Given the description of an element on the screen output the (x, y) to click on. 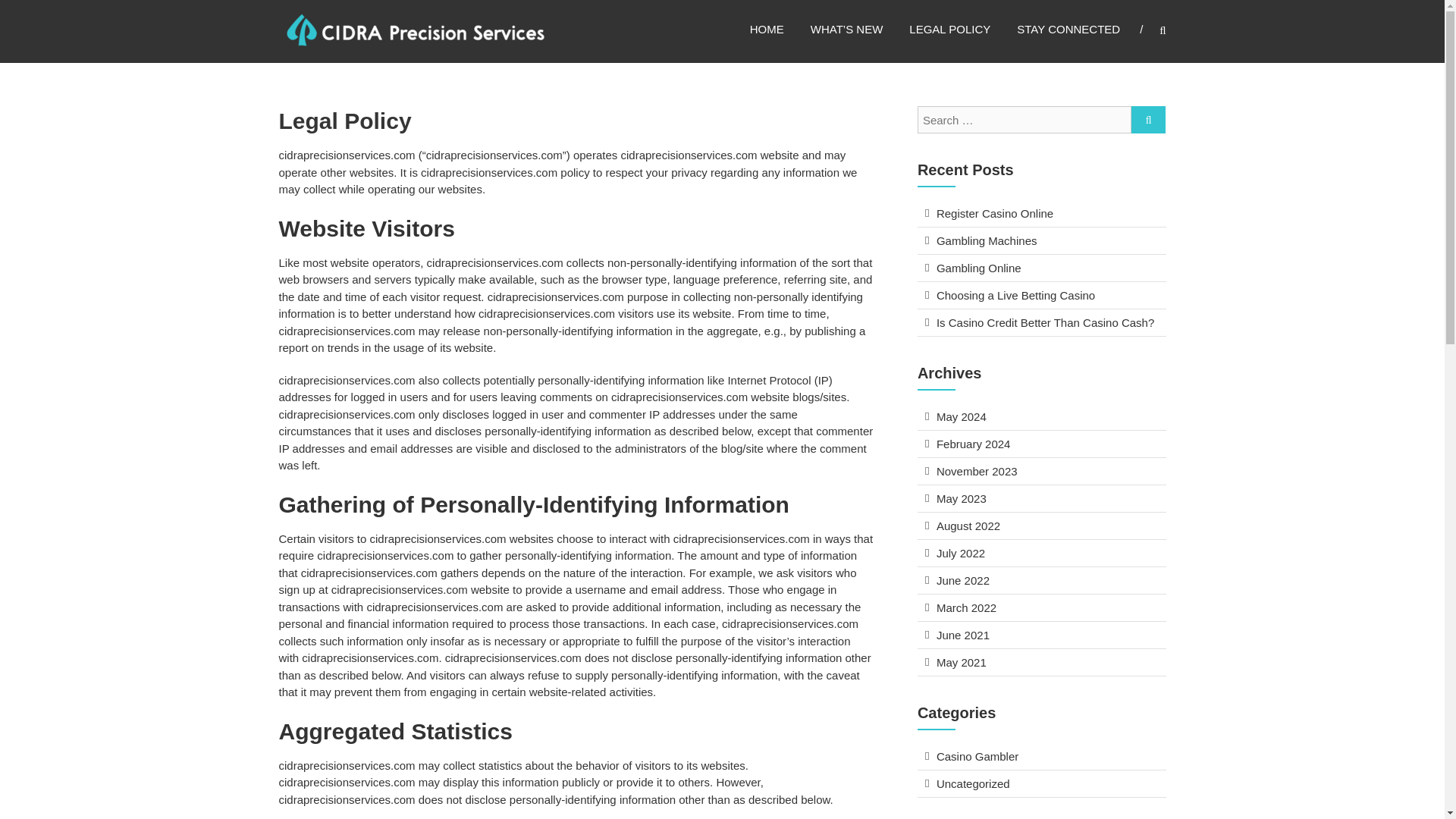
November 2023 (976, 471)
Gambling Machines (986, 240)
July 2022 (960, 553)
May 2024 (961, 416)
August 2022 (968, 525)
February 2024 (973, 443)
Is Casino Credit Better Than Casino Cash? (1045, 322)
LEGAL POLICY (949, 29)
Gambling Online (979, 267)
Search (1232, 409)
March 2022 (965, 607)
June 2021 (963, 634)
Uncategorized (973, 783)
May 2023 (961, 498)
STAY CONNECTED (1067, 29)
